Given the description of an element on the screen output the (x, y) to click on. 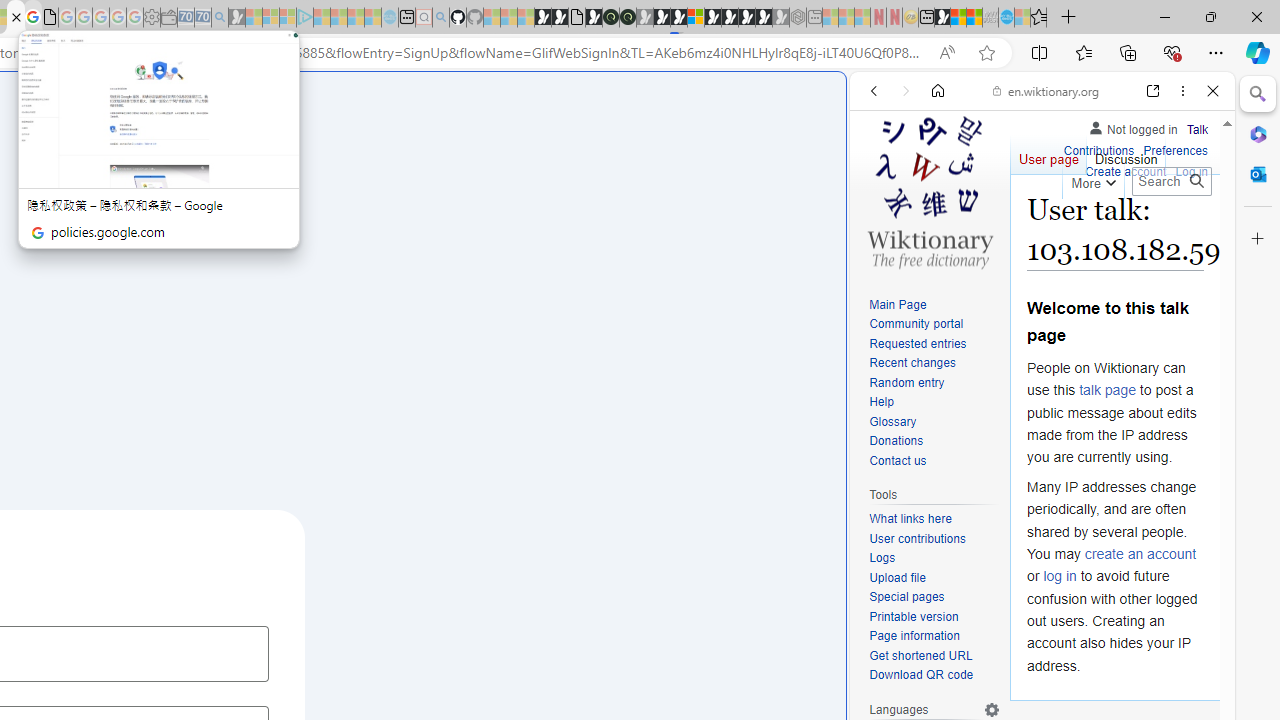
Discussion (1125, 154)
What links here (910, 519)
Contributions (1098, 148)
github - Search - Sleeping (440, 17)
Contributions (1098, 151)
Printable version (934, 616)
